Given the description of an element on the screen output the (x, y) to click on. 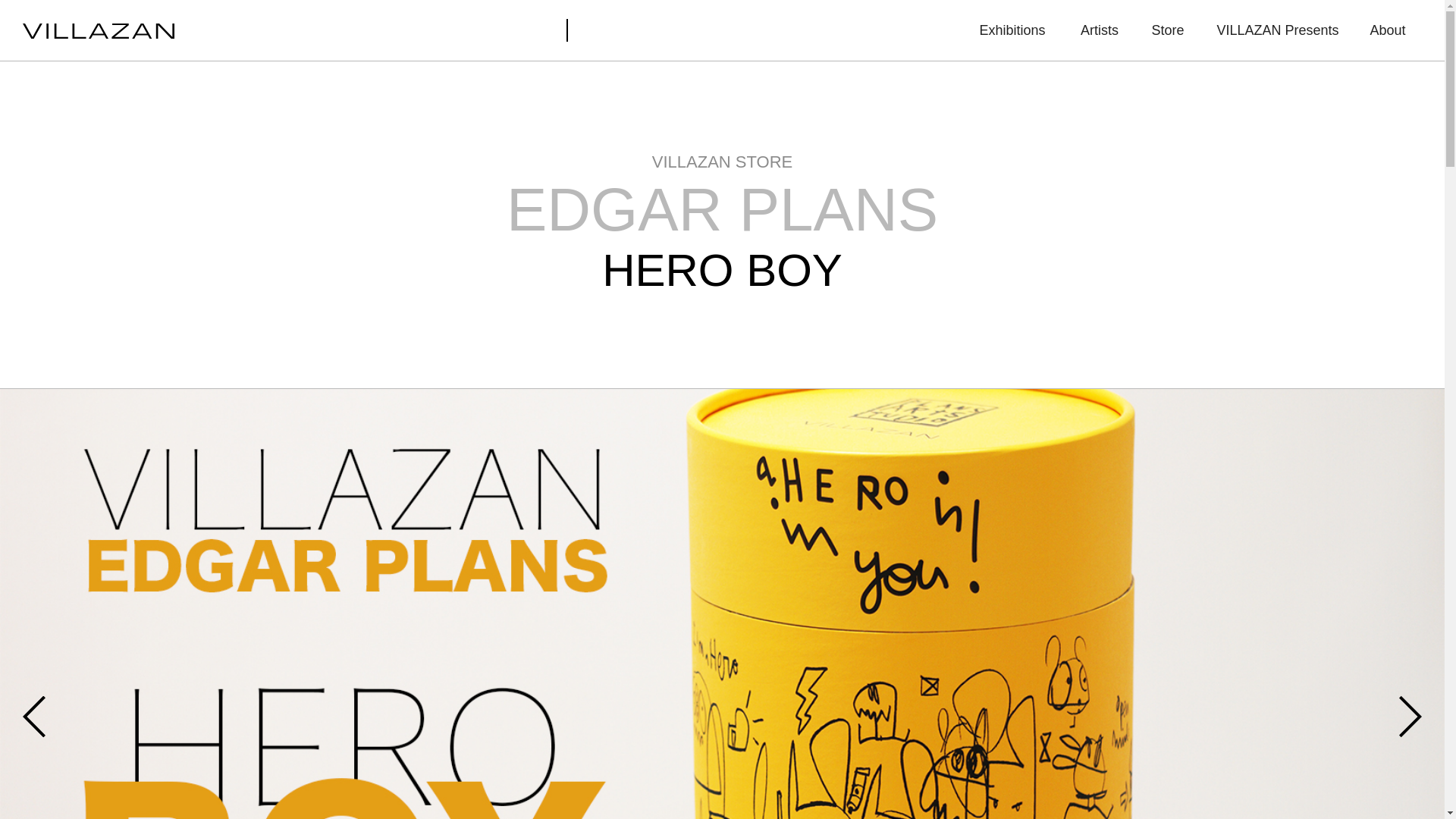
About (1387, 29)
Artists (1099, 29)
VILLAZAN Presents (1276, 29)
Exhibitions (1011, 29)
Store (1167, 29)
